Given the description of an element on the screen output the (x, y) to click on. 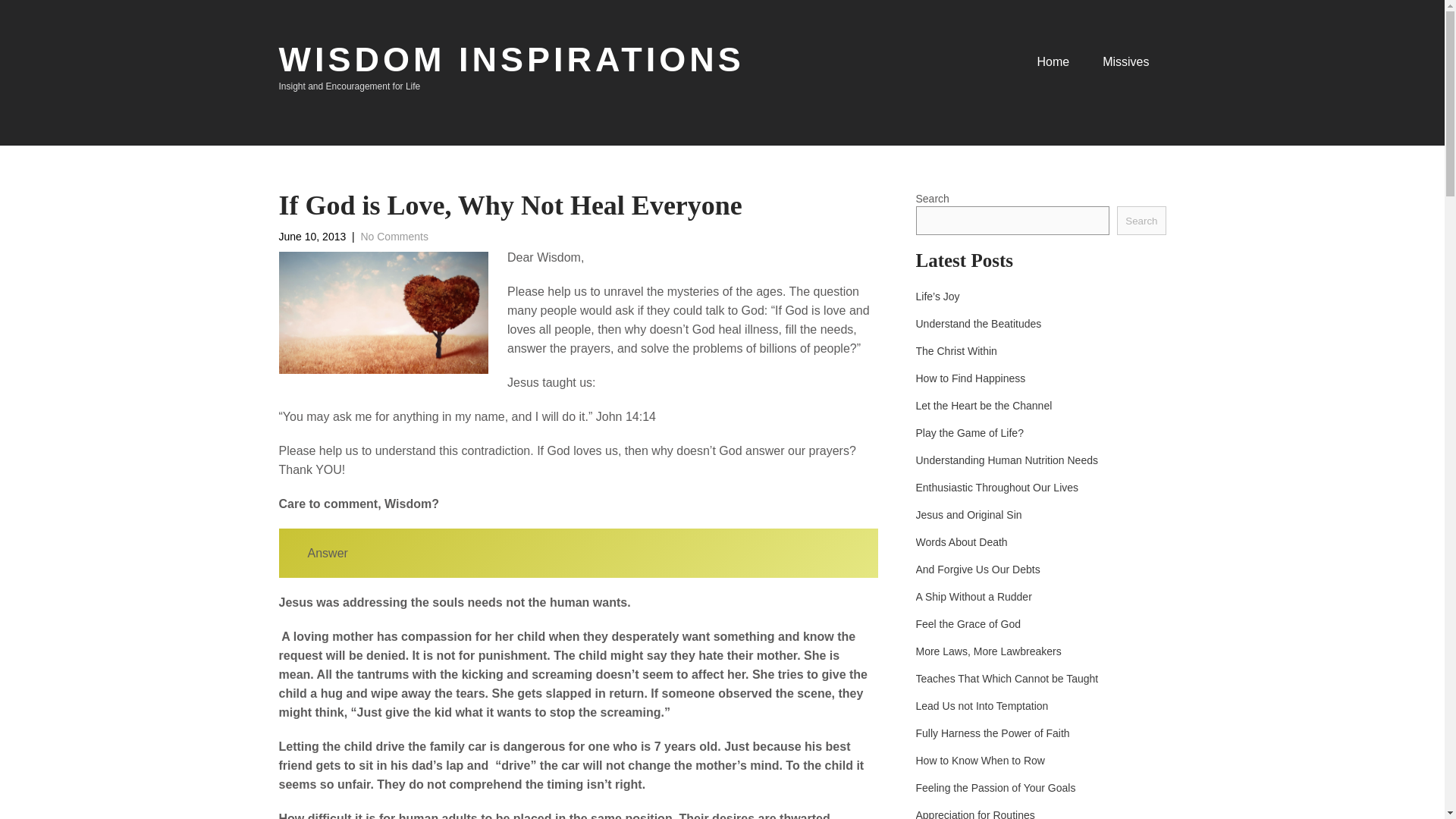
And Forgive Us Our Debts (978, 568)
Missives (1126, 67)
No Comments (393, 236)
Fully Harness the Power of Faith (992, 732)
A Ship Without a Rudder (973, 595)
Feeling the Passion of Your Goals (995, 786)
How to Find Happiness (970, 377)
Let the Heart be the Channel (983, 404)
Home (1053, 67)
Search (1141, 220)
